Given the description of an element on the screen output the (x, y) to click on. 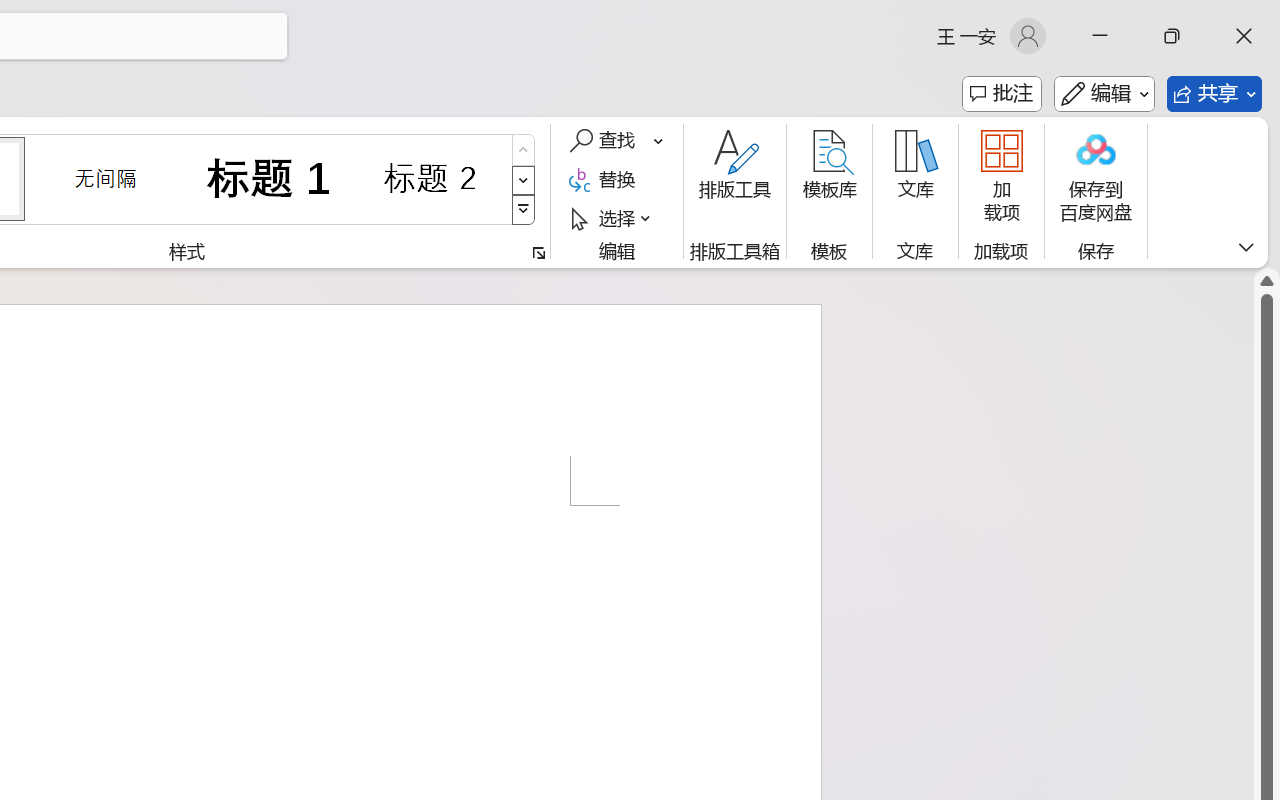
Class: NetUIImage (523, 210)
